Given the description of an element on the screen output the (x, y) to click on. 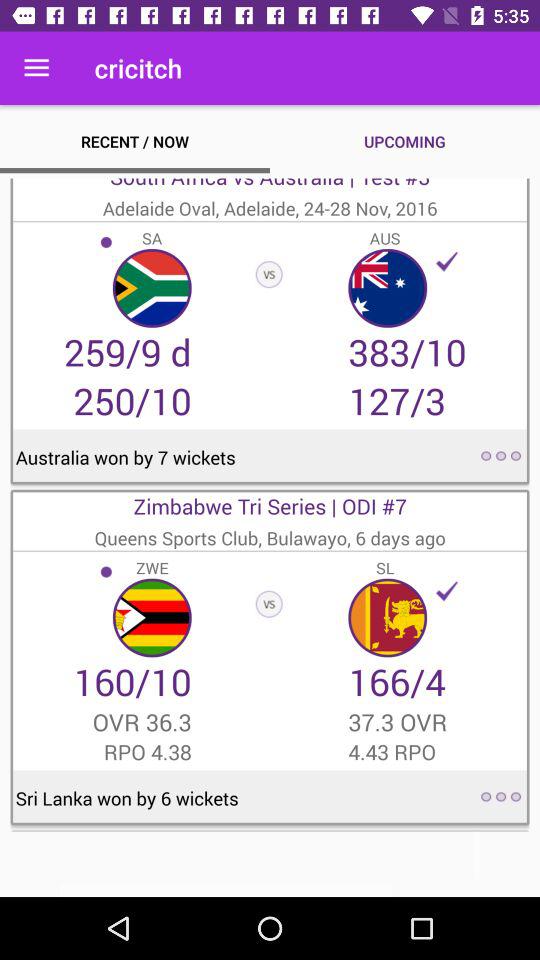
click item to the left of the cricitch icon (36, 68)
